Given the description of an element on the screen output the (x, y) to click on. 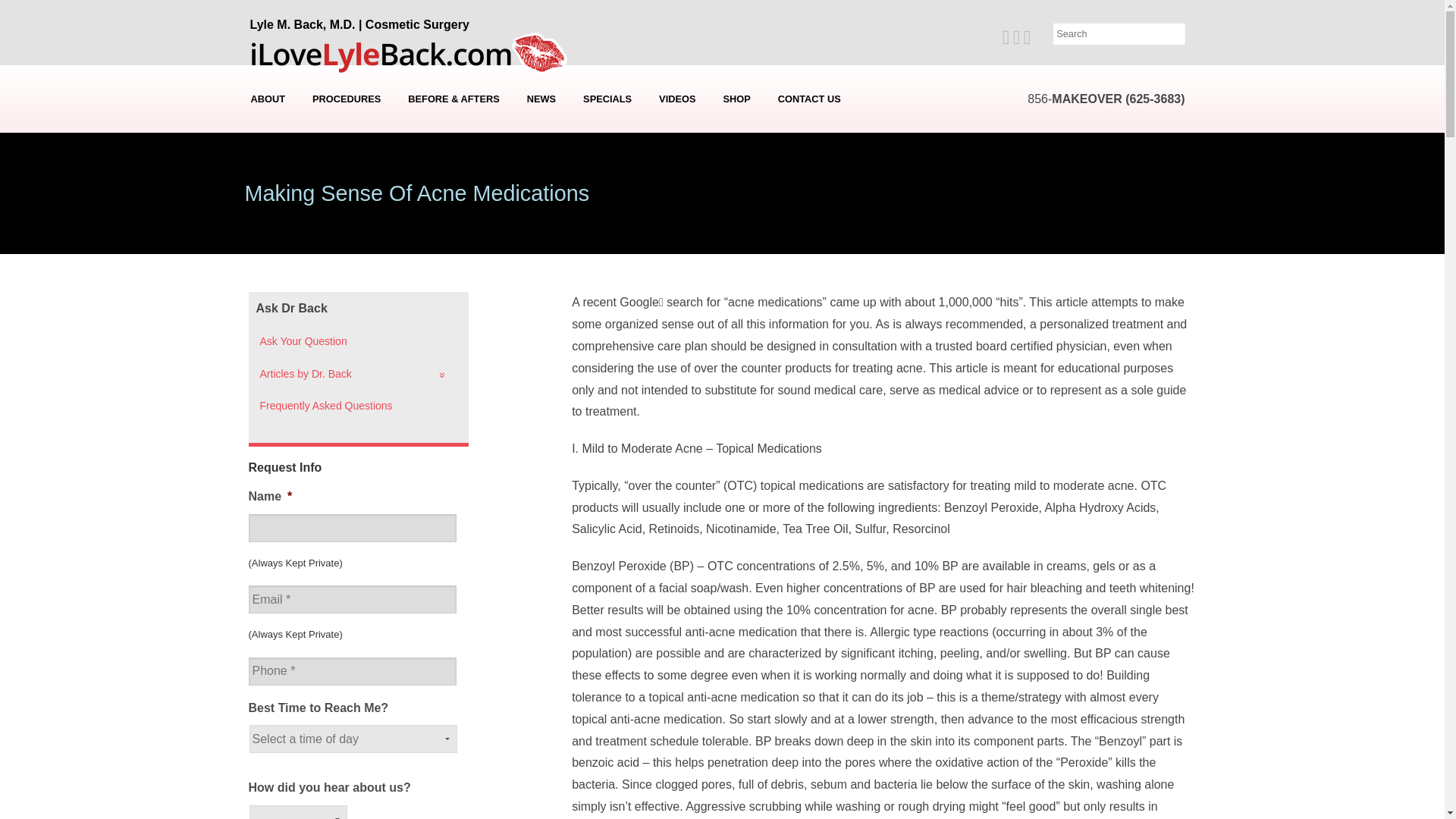
ABOUT (268, 98)
NON-SURGICAL (346, 242)
About Cosmetic Skin Care Specialists of Cherry Hill (268, 197)
THE BACK BLOG (543, 197)
ASK DR. BACK (543, 220)
MEN (346, 220)
COSMETIC SURGERY CENTER (268, 174)
COSMETIC SKIN CARE (346, 265)
FACE (346, 197)
NEWSLETTER (543, 151)
IN THE NEWS (543, 128)
Cosmetic surgery and skin care services (346, 98)
NEWS (541, 98)
TESTIMONIALS (268, 151)
SPECIALS (607, 98)
